Given the description of an element on the screen output the (x, y) to click on. 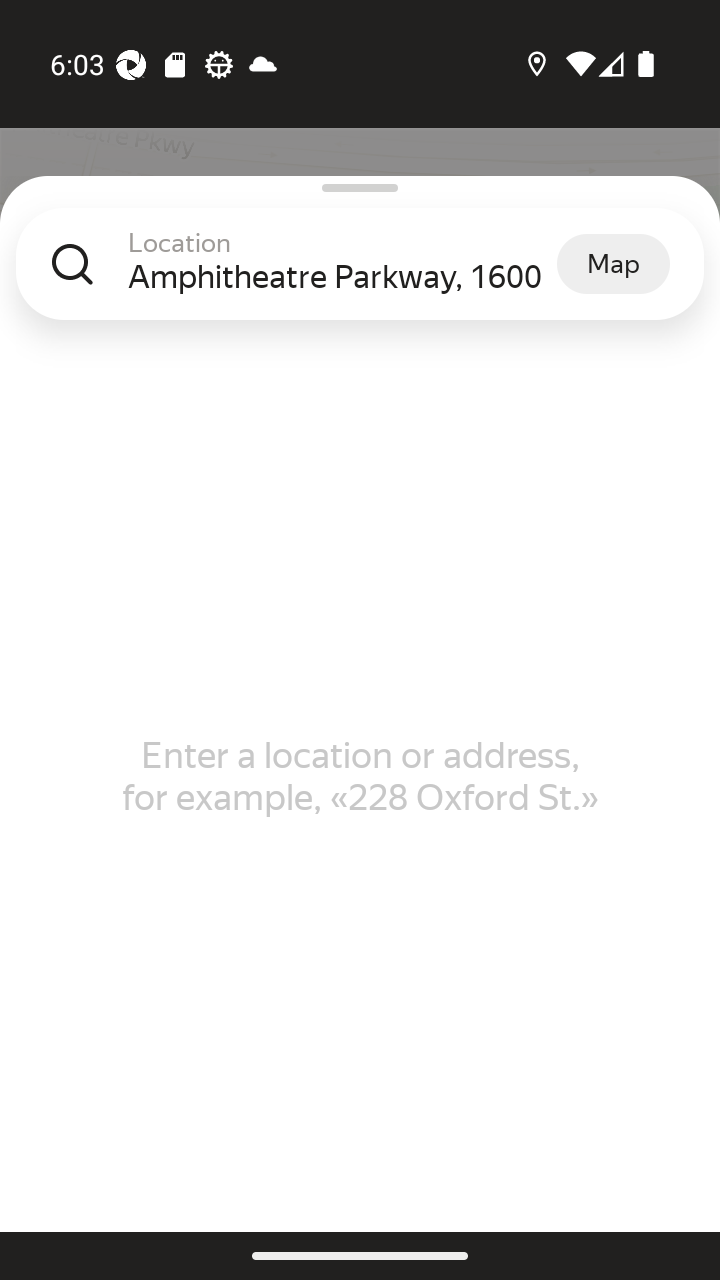
Location Amphitheatre Parkway, 1600 Map (360, 280)
Map (613, 263)
Amphitheatre Parkway, 1600 (341, 276)
